Given the description of an element on the screen output the (x, y) to click on. 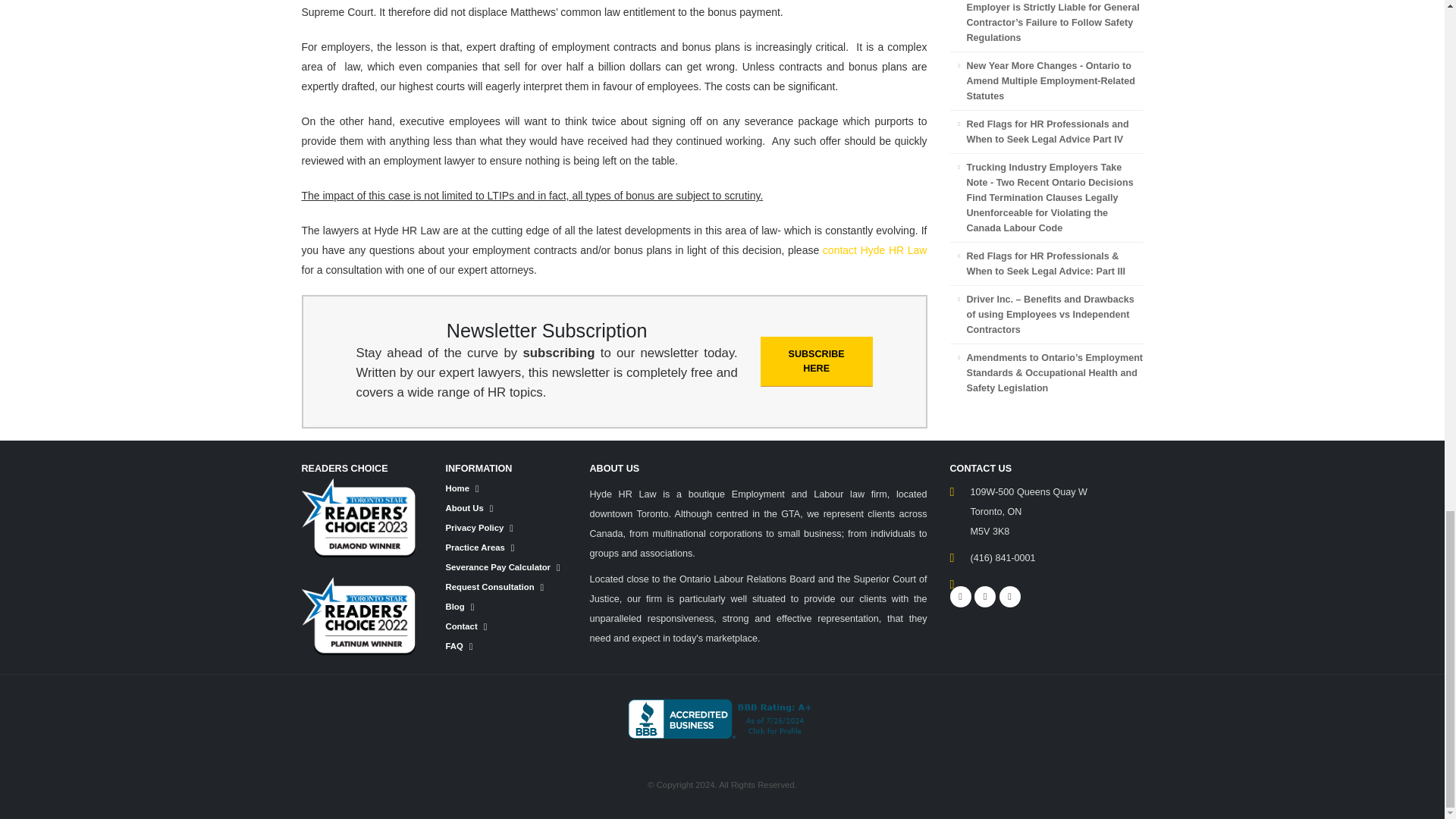
Linkedin (1009, 596)
Facebook (960, 596)
contact Hyde HR Law (874, 250)
Twitter (984, 596)
SUBSCRIBE HERE (816, 360)
